Given the description of an element on the screen output the (x, y) to click on. 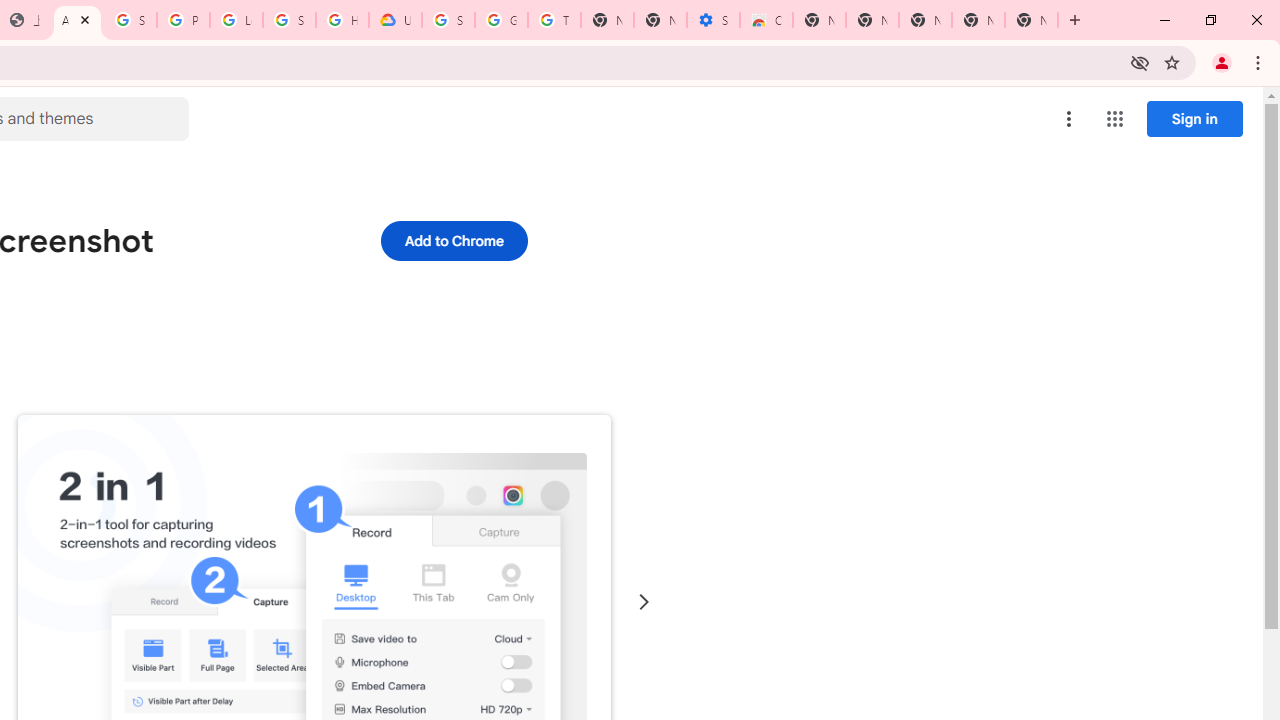
Sign in - Google Accounts (130, 20)
Add to Chrome (453, 240)
Settings - Accessibility (713, 20)
Next slide (643, 601)
Google Account Help (501, 20)
